Given the description of an element on the screen output the (x, y) to click on. 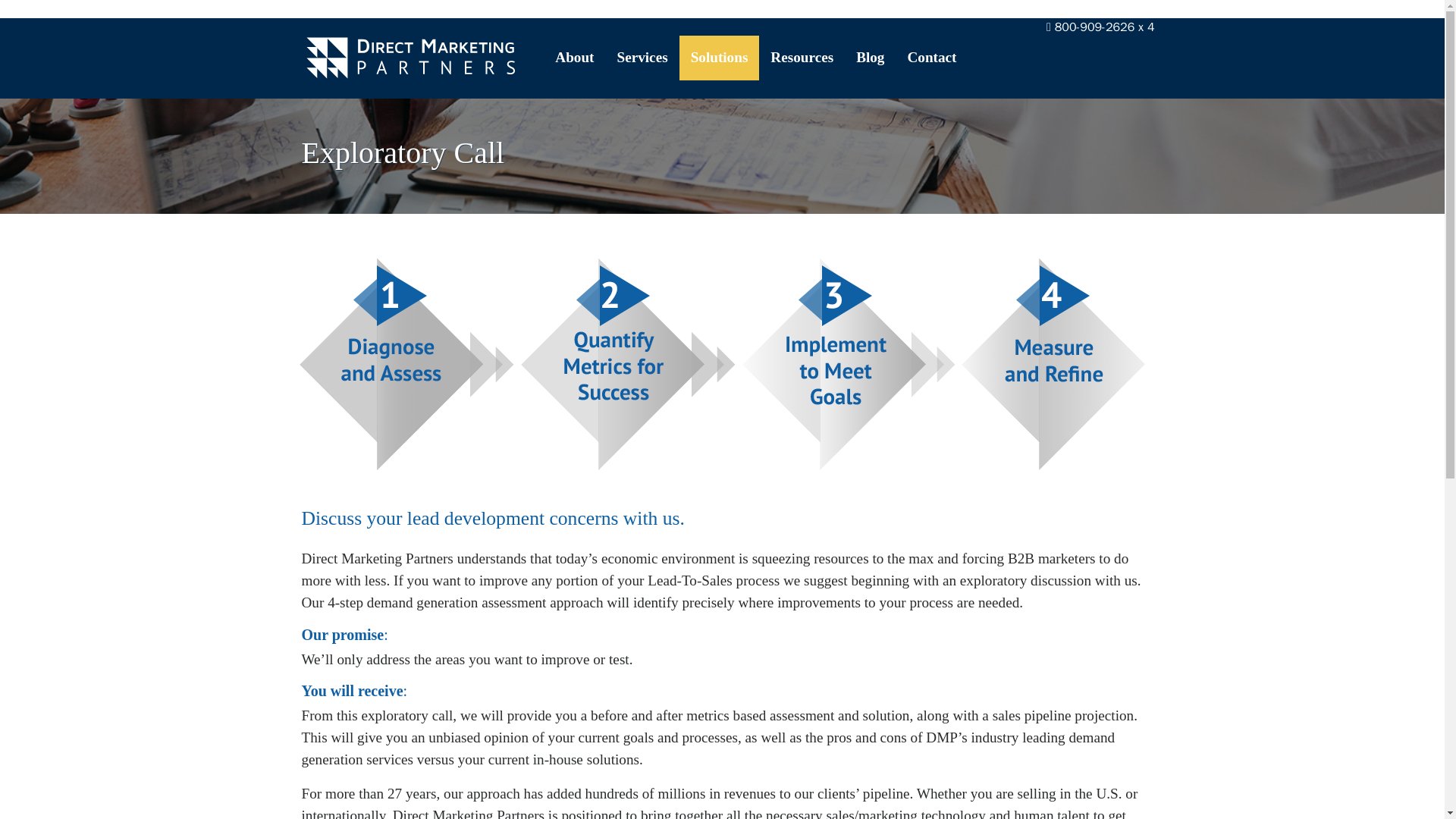
Resources (801, 58)
800-909-2626 x 4 (1094, 27)
About (574, 58)
Resources (801, 58)
Solutions (719, 58)
Solutions (719, 58)
Blog (869, 58)
About (574, 58)
Blog (869, 58)
Services (641, 58)
